Given the description of an element on the screen output the (x, y) to click on. 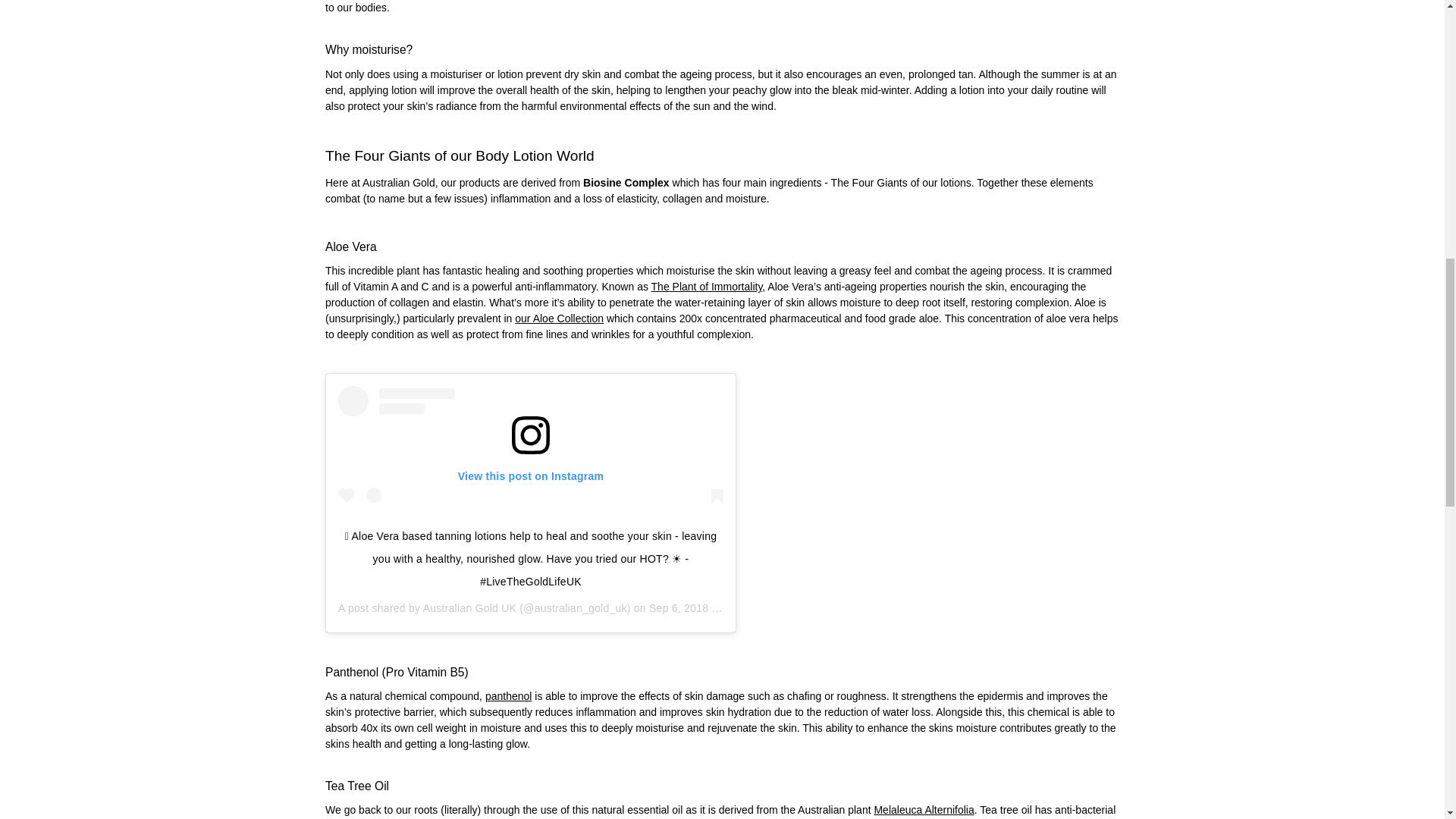
The Plant of Immortality (706, 286)
our Aloe Collection (559, 318)
Melaleuca Alternifolia (923, 809)
Australian Gold UK (469, 607)
View this post on Instagram (530, 448)
panthenol (508, 695)
